Given the description of an element on the screen output the (x, y) to click on. 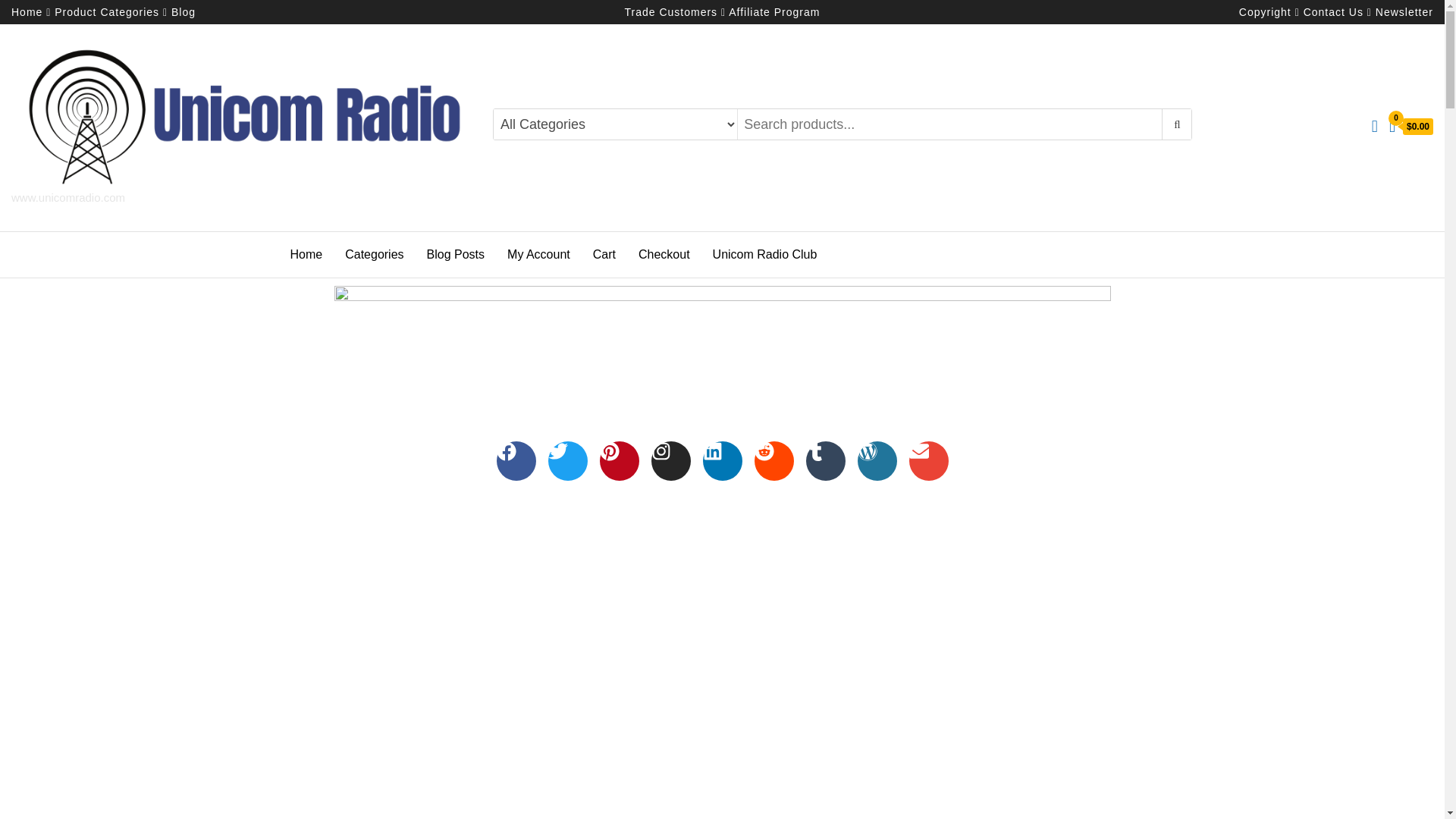
Affiliate Program (774, 11)
Categories (373, 254)
Contact Us (1332, 11)
Categories (373, 254)
Blog Posts (455, 254)
Cart (603, 254)
Home (26, 11)
Home (306, 254)
Trade Customers (670, 11)
Unicom Radio (49, 210)
My Account (538, 254)
Checkout (664, 254)
My Account (538, 254)
View your shopping cart (1410, 127)
Blog Posts (455, 254)
